Given the description of an element on the screen output the (x, y) to click on. 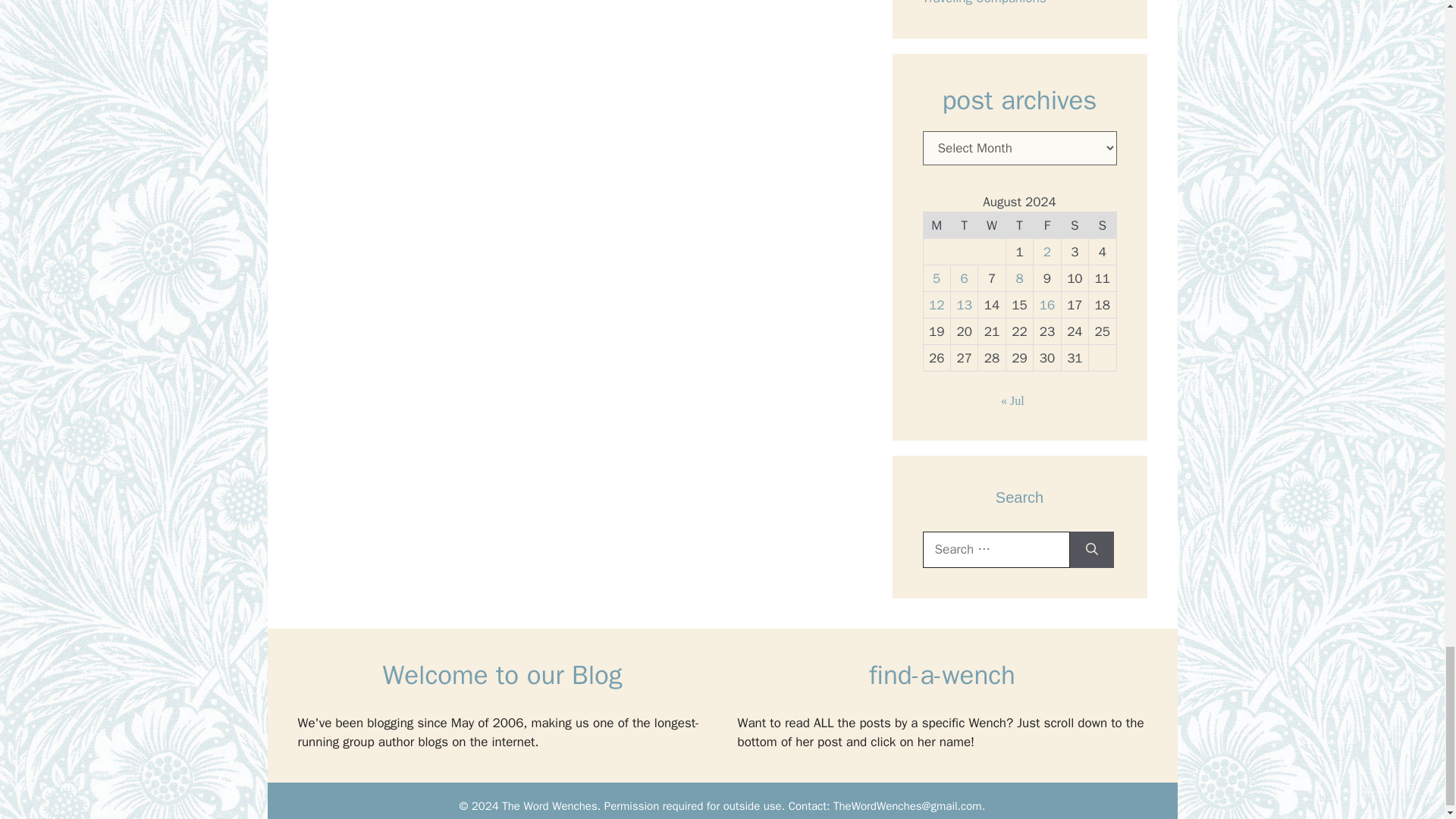
Friday (1047, 225)
Saturday (1074, 225)
Sunday (1102, 225)
Tuesday (963, 225)
Search for: (994, 549)
Monday (936, 225)
Thursday (1019, 225)
Wednesday (992, 225)
